Given the description of an element on the screen output the (x, y) to click on. 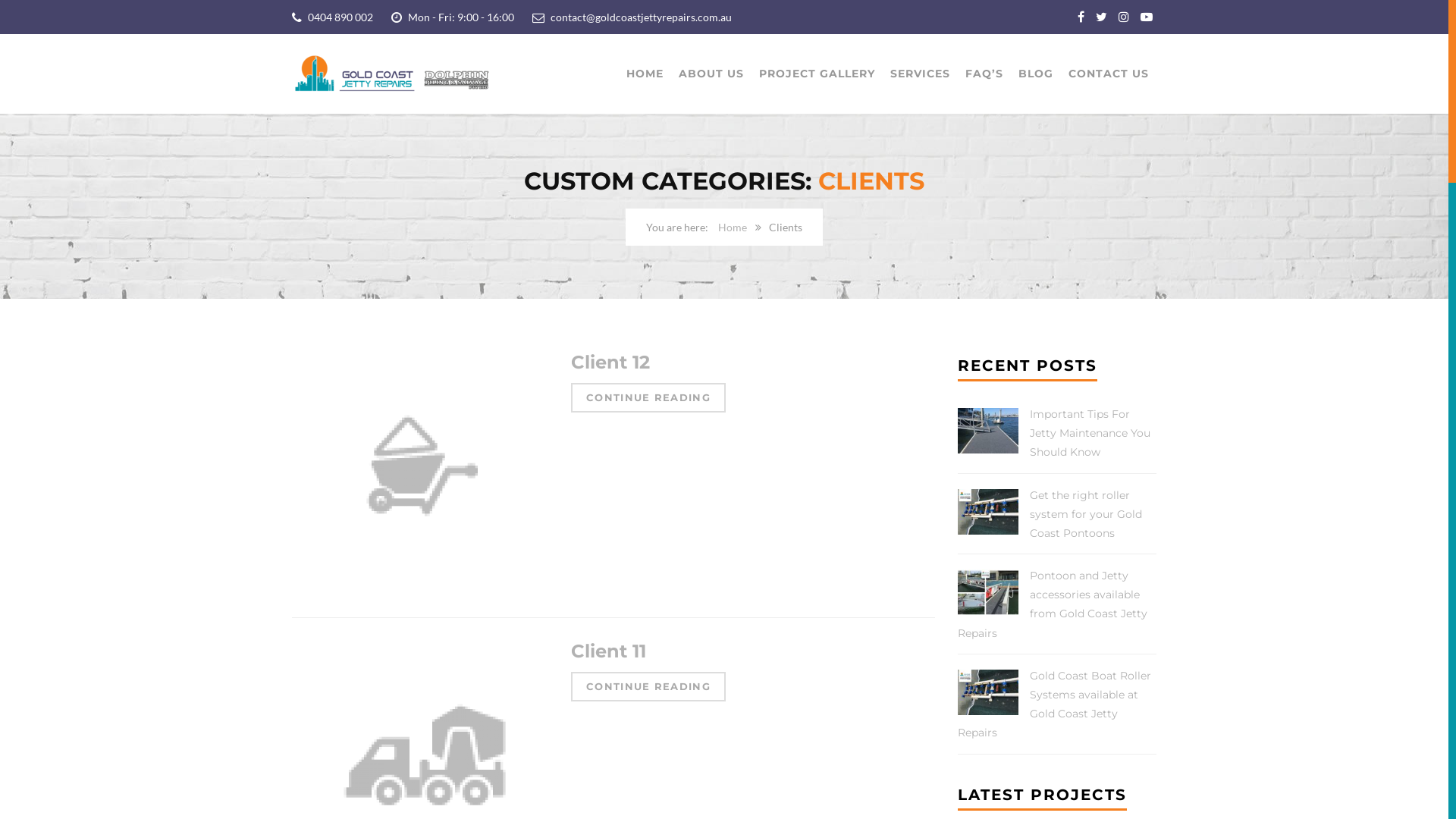
BLOG Element type: text (1035, 73)
Home Element type: text (732, 226)
CONTINUE READING Element type: text (648, 686)
HOME Element type: text (644, 73)
PROJECT GALLERY Element type: text (817, 73)
Client 11 Element type: text (608, 651)
CONTINUE READING Element type: text (648, 397)
SERVICES Element type: text (920, 73)
0404 890 002 Element type: text (340, 16)
Get the right roller system for your Gold Coast Pontoons Element type: text (1085, 513)
Important Tips For Jetty Maintenance You Should Know Element type: text (1089, 432)
ABOUT US Element type: text (710, 73)
Client 12 Element type: text (610, 362)
contact@goldcoastjettyrepairs.com.au Element type: text (640, 16)
CONTACT US Element type: text (1108, 73)
